Given the description of an element on the screen output the (x, y) to click on. 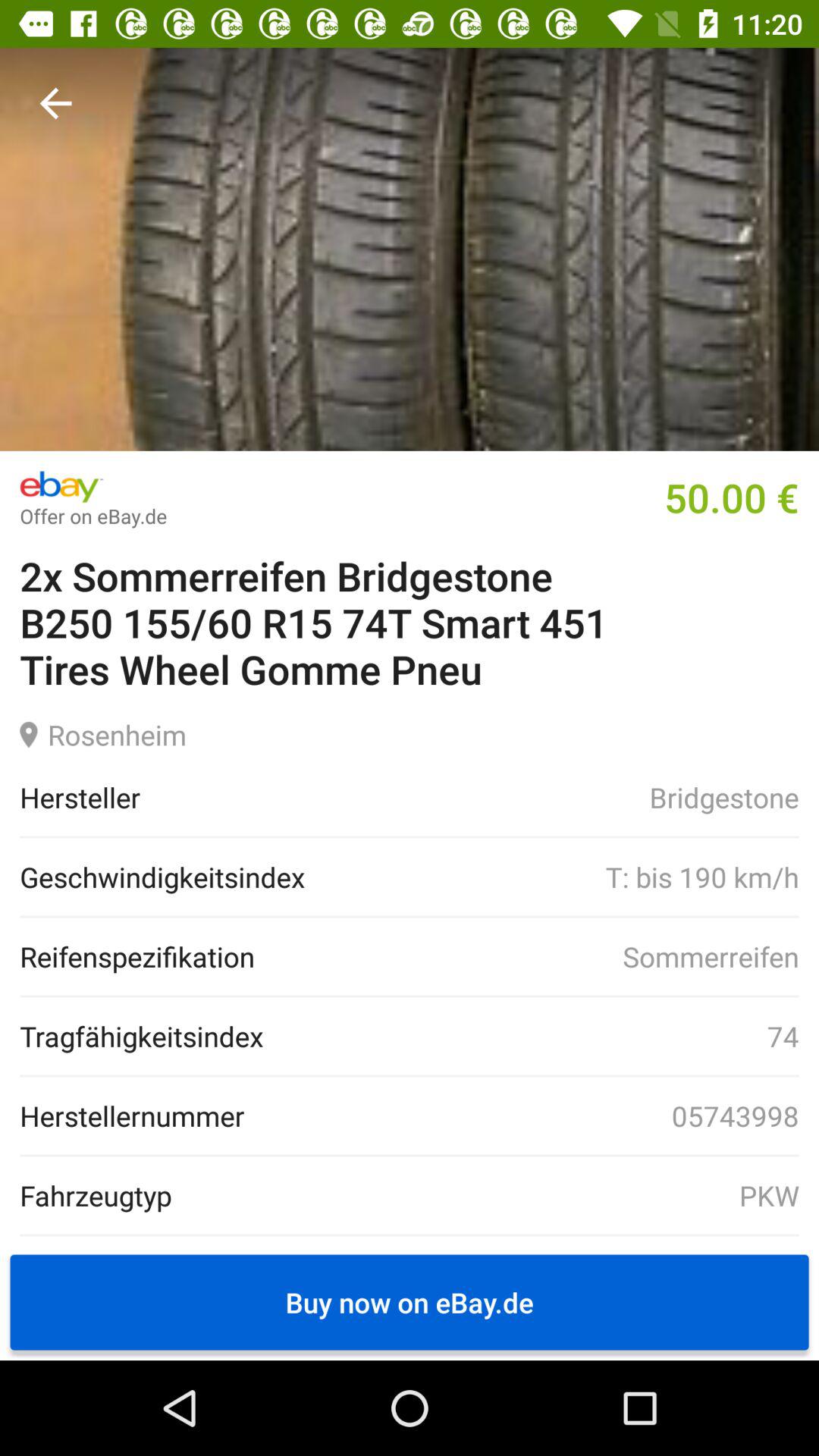
enlarge a picture (409, 249)
